Given the description of an element on the screen output the (x, y) to click on. 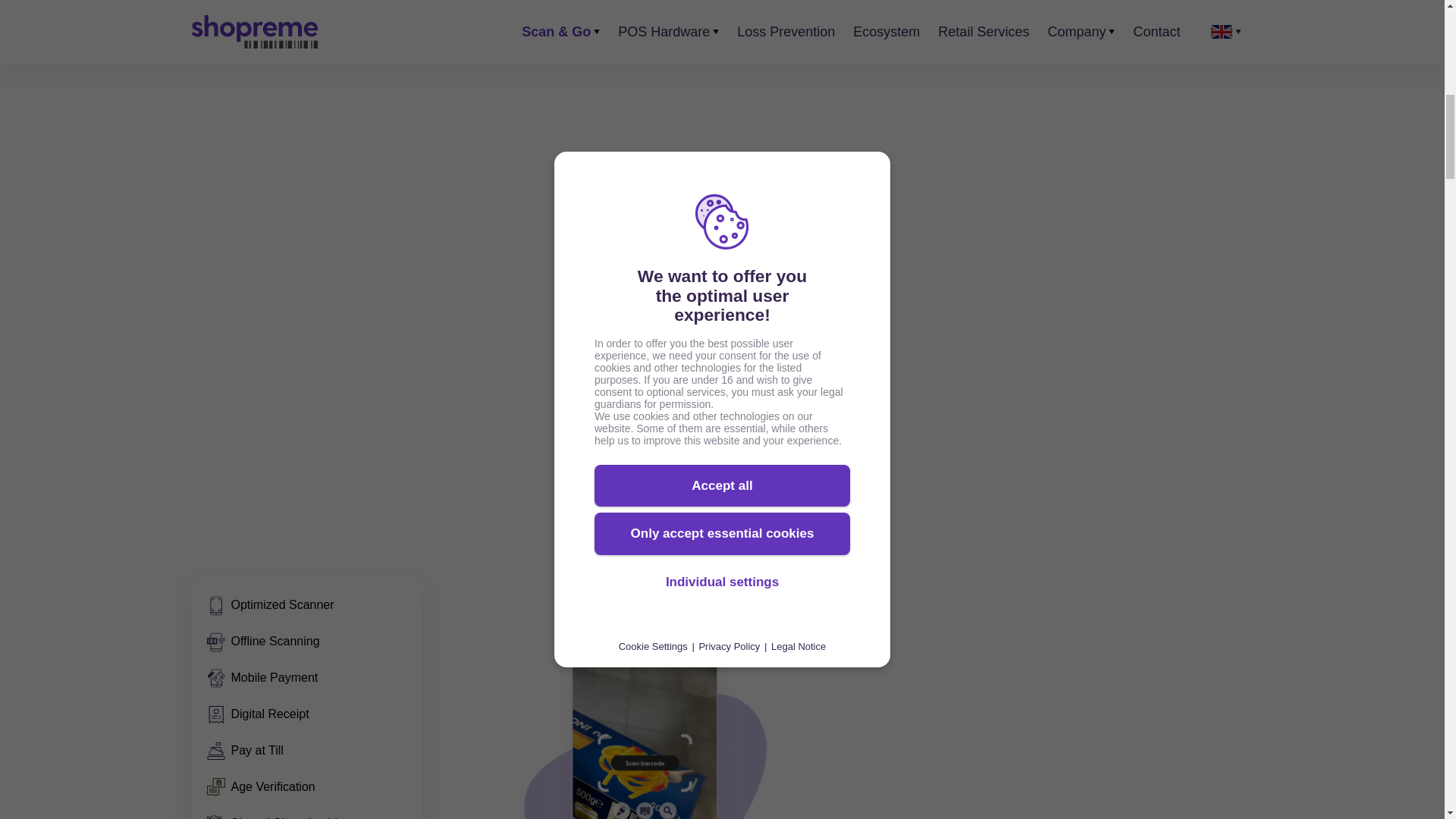
Shared Shopping List (276, 816)
Offline Scanning (262, 641)
Digital Receipt (257, 714)
Mobile Payment (261, 678)
Age Verification (260, 787)
Optimized Scanner (269, 605)
Pay at Till (244, 751)
